Given the description of an element on the screen output the (x, y) to click on. 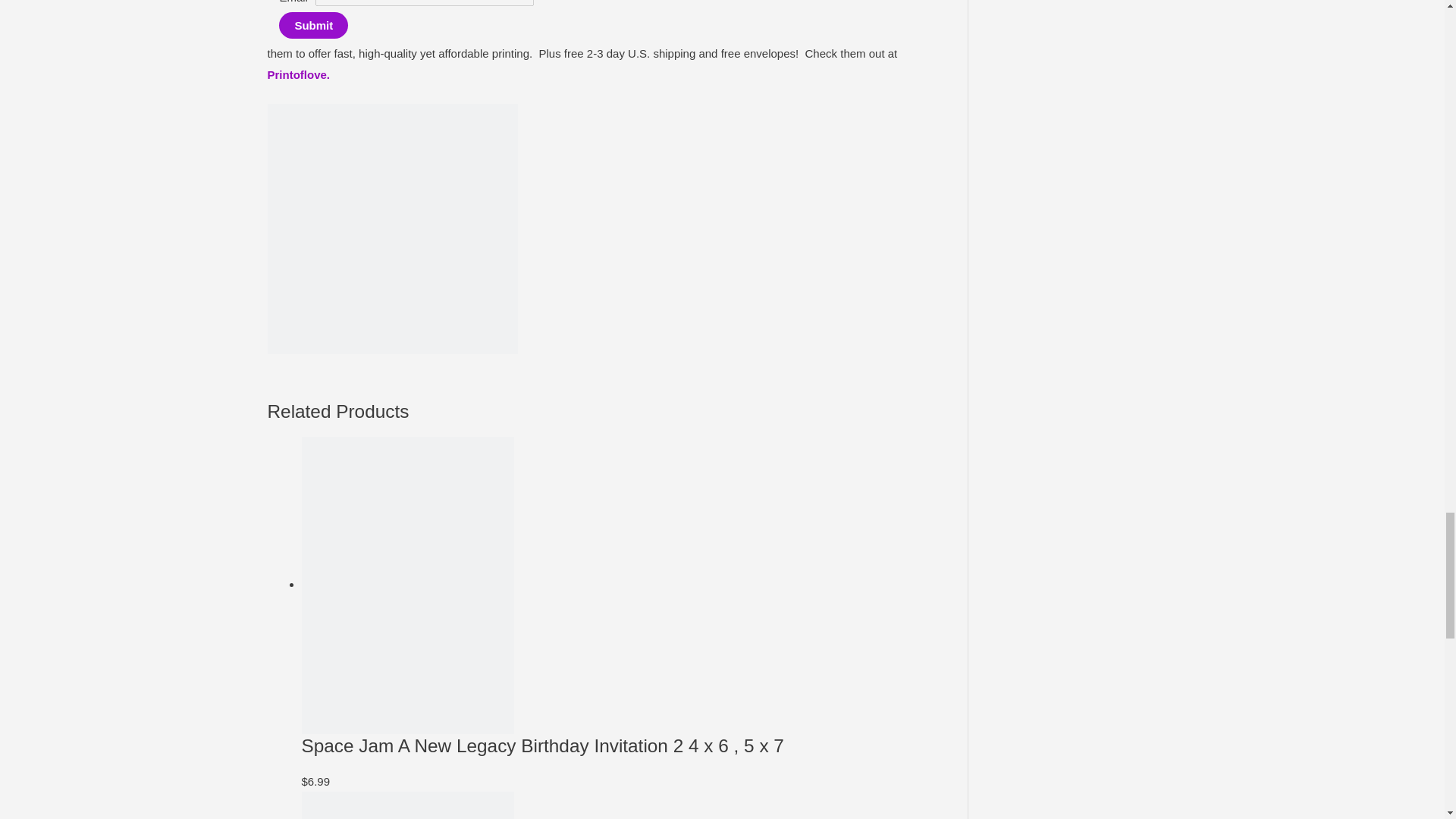
Printoflove. (298, 74)
Submit (313, 25)
Submit (313, 25)
